Given the description of an element on the screen output the (x, y) to click on. 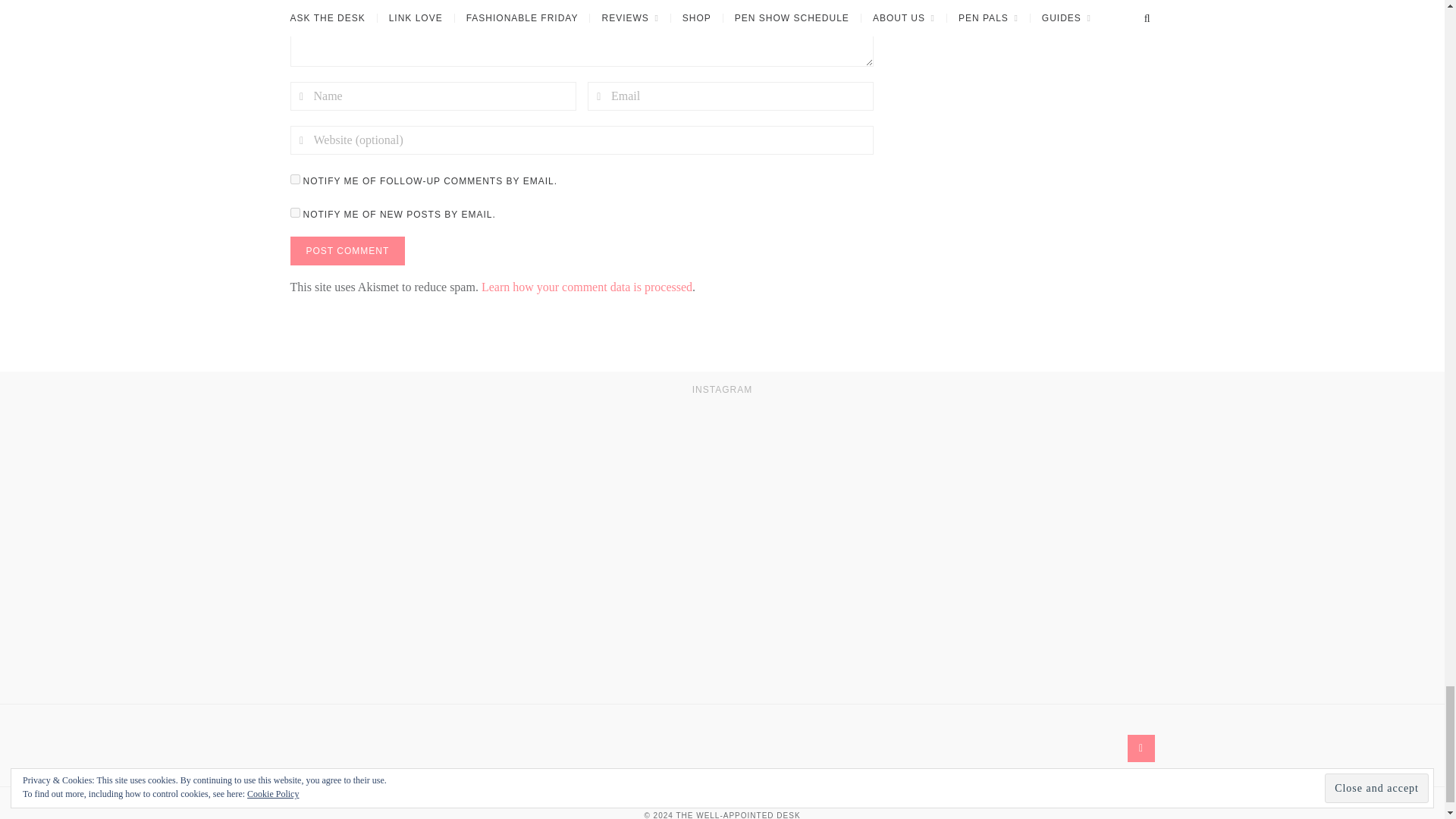
Post Comment (346, 250)
subscribe (294, 179)
subscribe (294, 212)
